Given the description of an element on the screen output the (x, y) to click on. 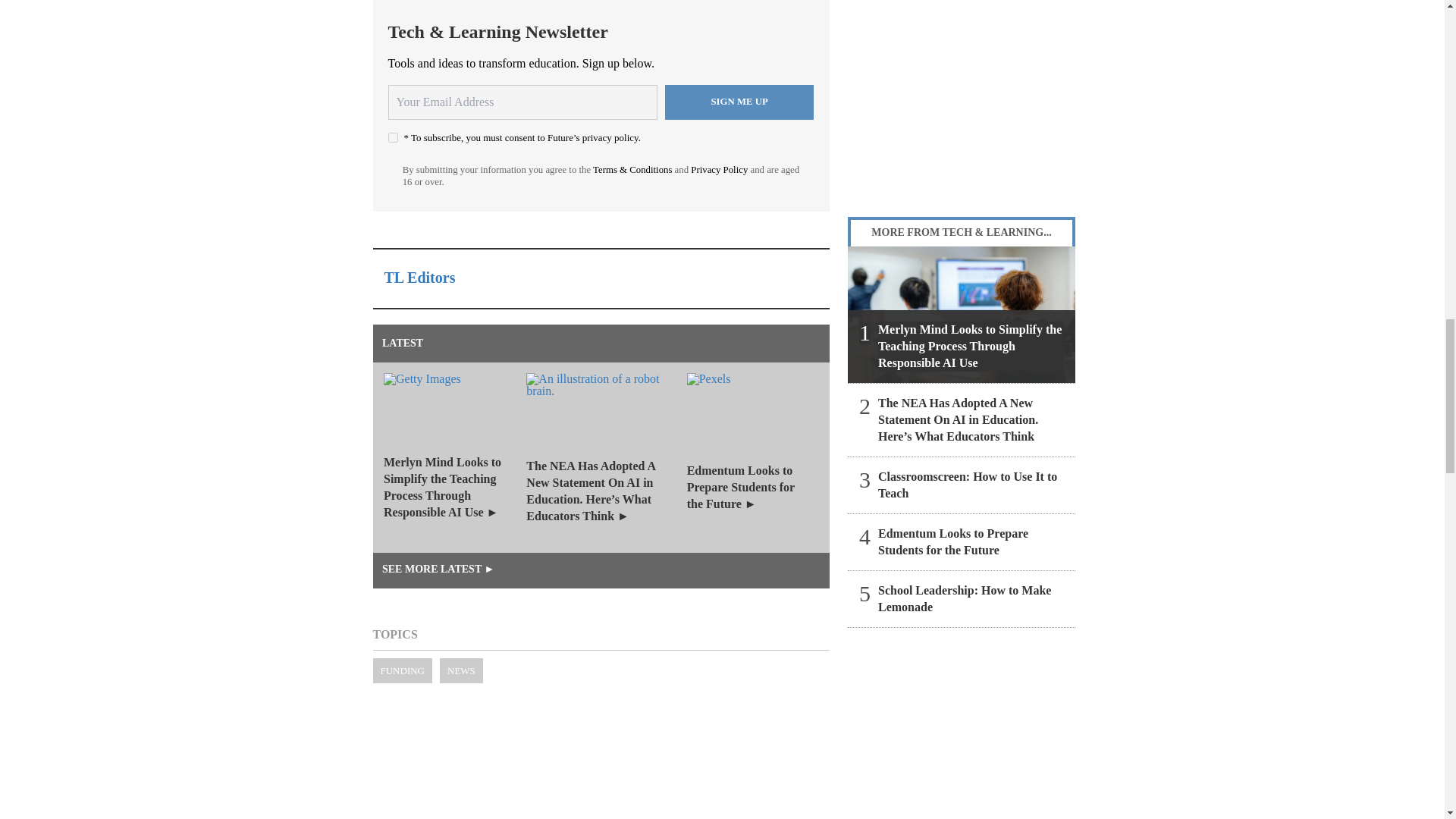
Privacy Policy (719, 169)
on (392, 137)
Sign me up (739, 102)
Sign me up (739, 102)
